Given the description of an element on the screen output the (x, y) to click on. 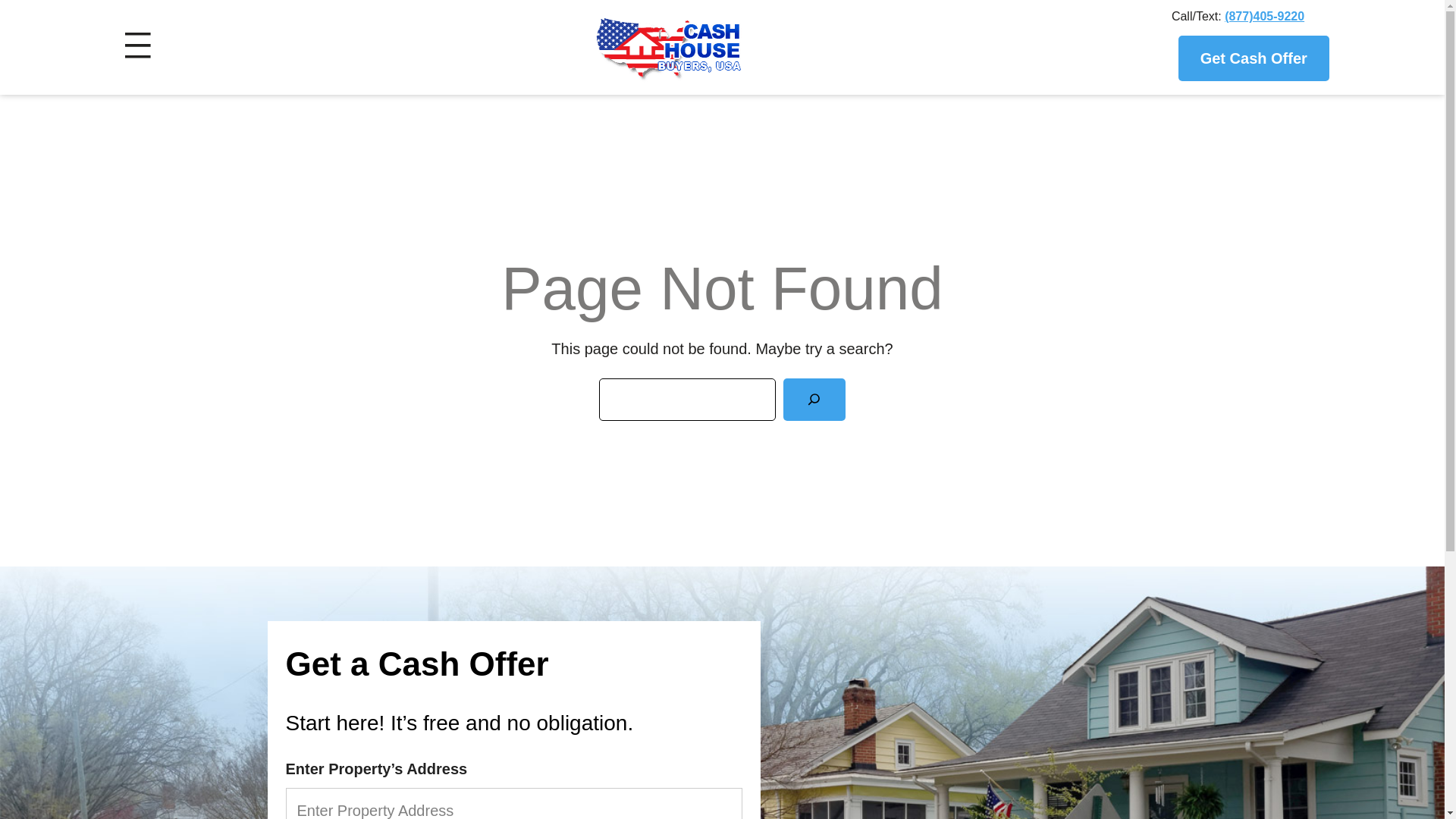
Get Cash Offer (1252, 58)
